Given the description of an element on the screen output the (x, y) to click on. 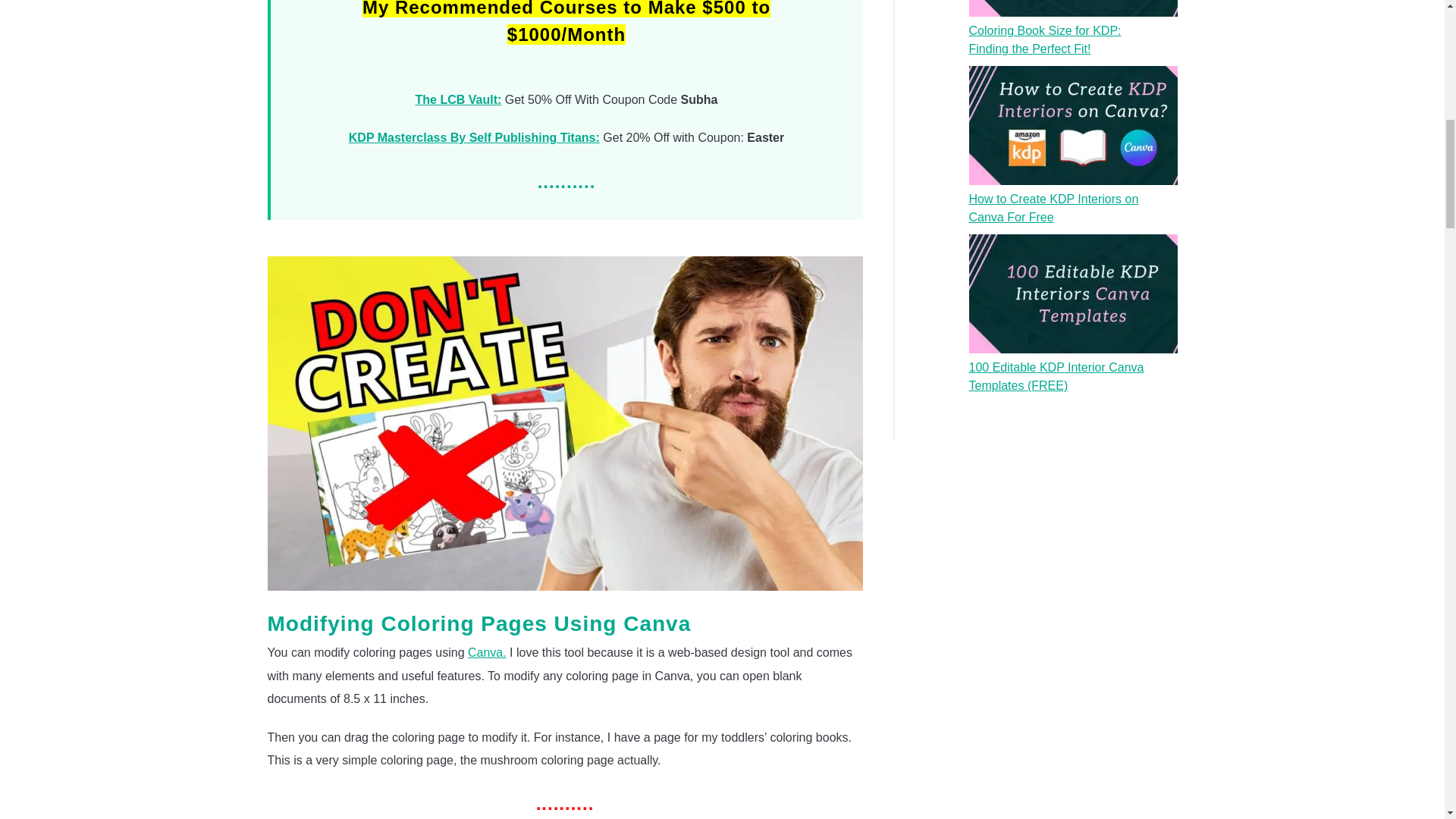
The LCB Vault: (458, 99)
KDP Masterclass By Self Publishing Titans: (474, 137)
The Best KDP Masterclass So Far... (474, 137)
Canva. (486, 652)
Advanced Over the Shoulder Training! (458, 99)
